Given the description of an element on the screen output the (x, y) to click on. 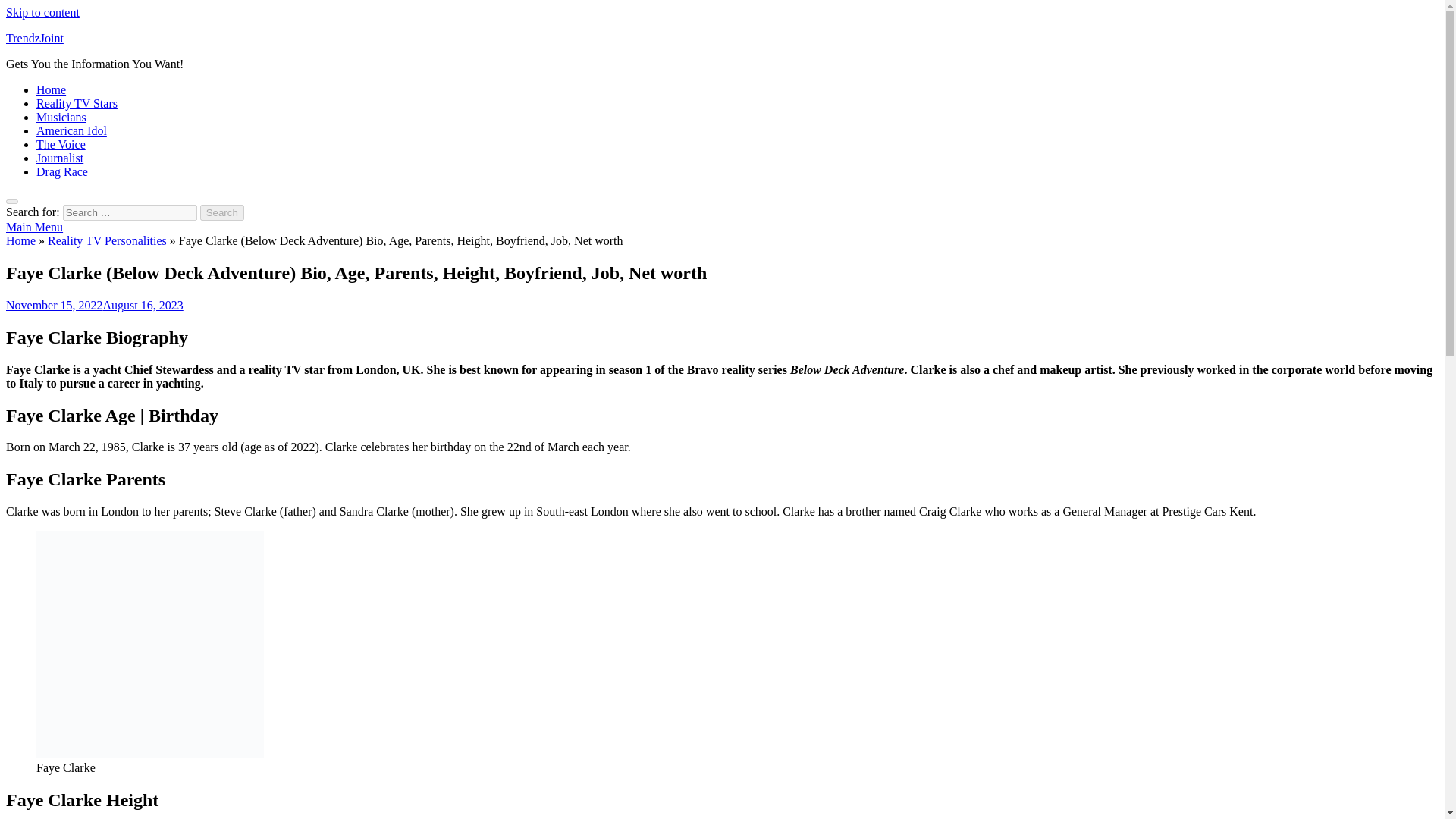
Skip to content (42, 11)
Search (222, 212)
TrendzJoint (34, 38)
Home (50, 89)
Drag Race (61, 171)
Journalist (59, 157)
Main Menu (33, 226)
Search (222, 212)
Reality TV Personalities (107, 240)
The Voice (60, 144)
